Given the description of an element on the screen output the (x, y) to click on. 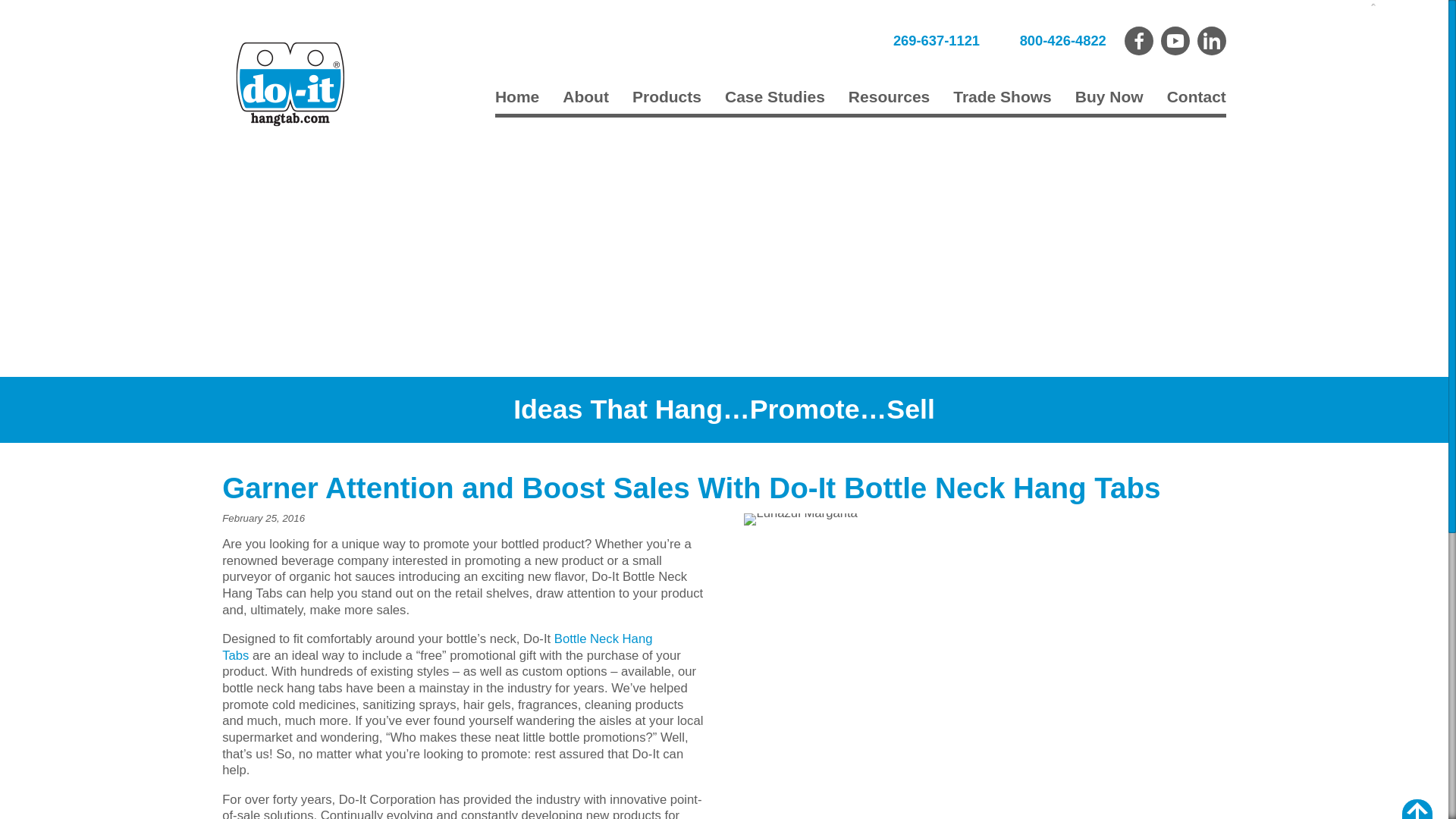
About (586, 99)
Resources (887, 99)
Contact (1189, 99)
Lunazul Margarita (800, 519)
Trade Shows (1003, 99)
Bottle Neck Hang Tabs (437, 646)
Products (666, 99)
800-426-4822 (1063, 40)
Case Studies (774, 99)
Do-It Corporation (290, 83)
